Given the description of an element on the screen output the (x, y) to click on. 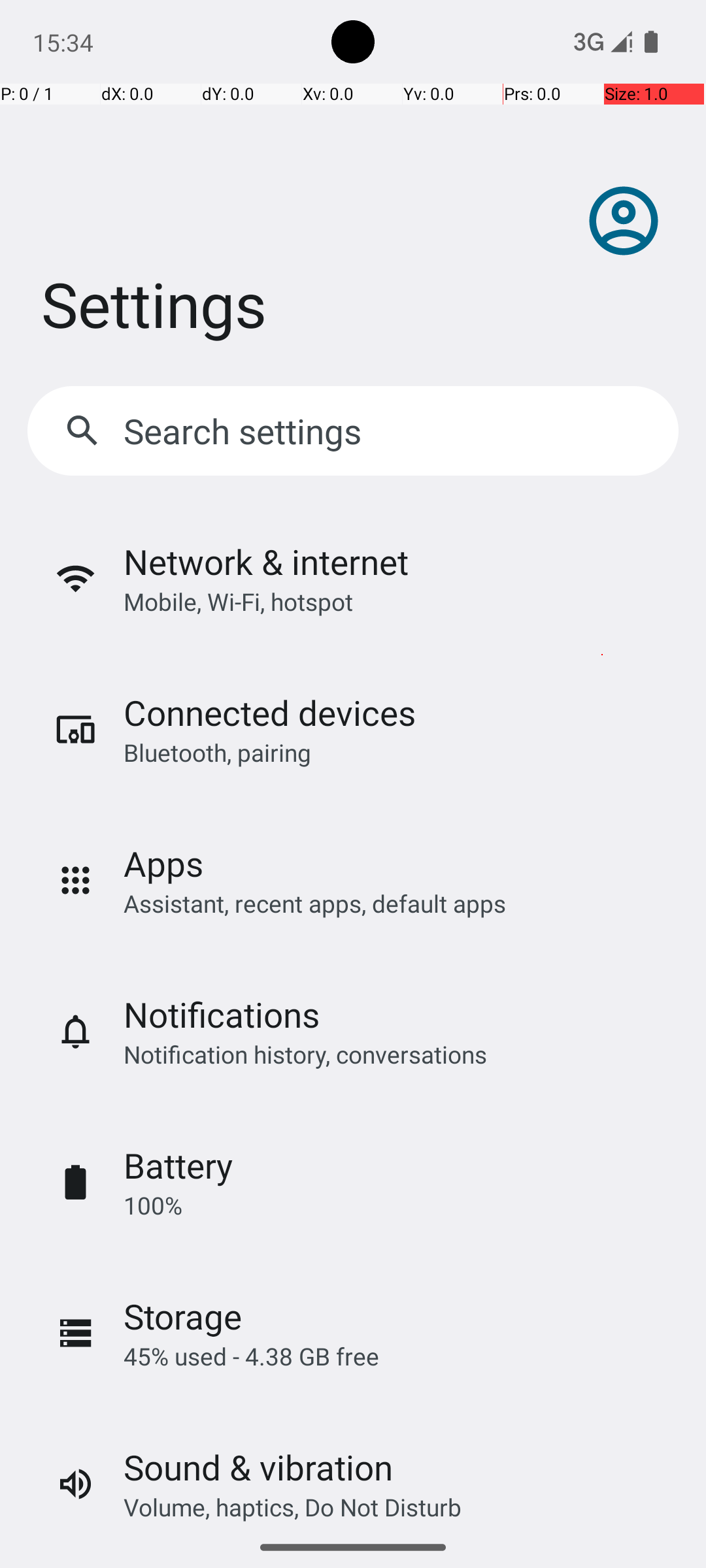
45% used - 4.38 GB free Element type: android.widget.TextView (251, 1355)
